Given the description of an element on the screen output the (x, y) to click on. 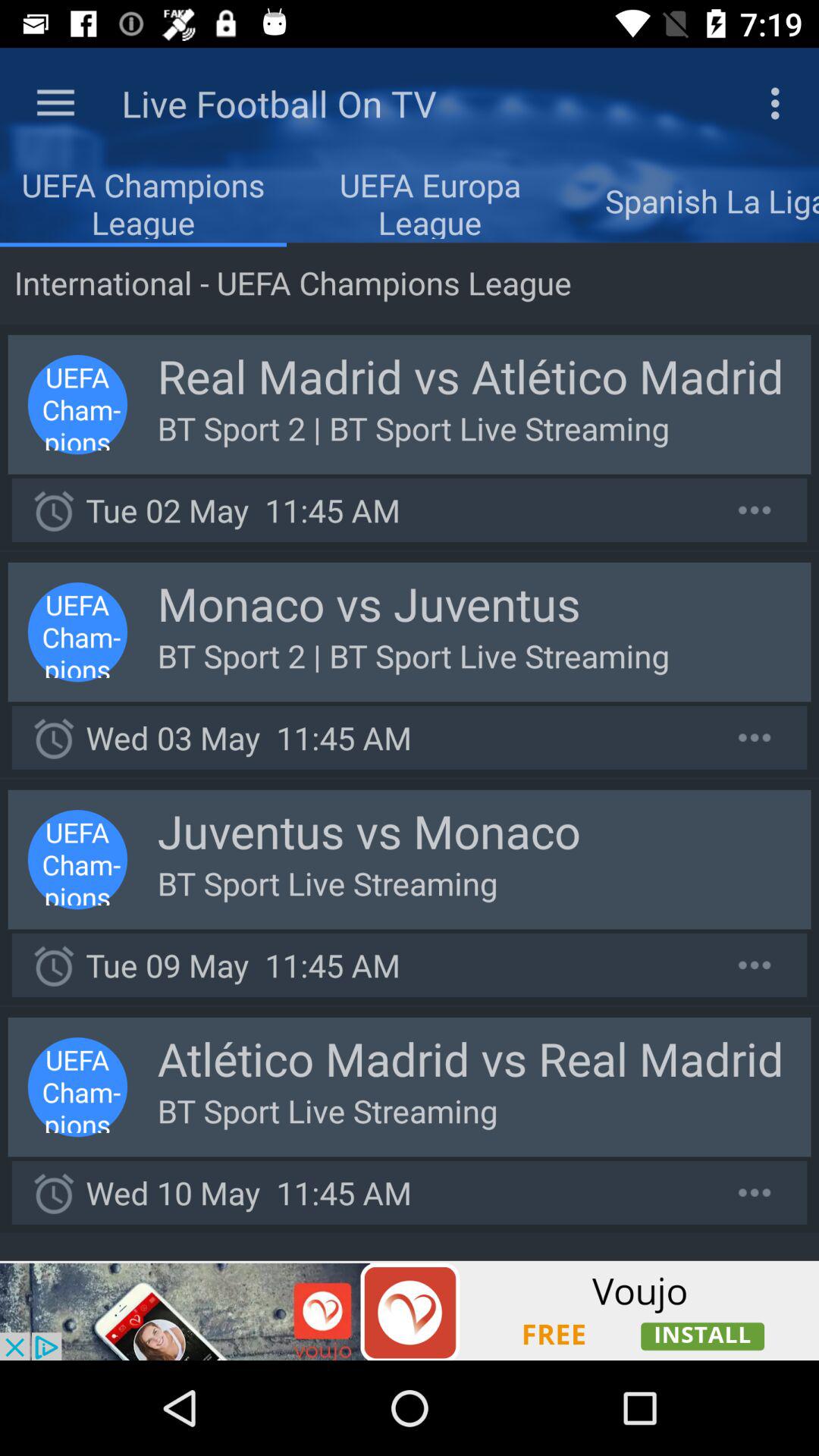
see advertisement (409, 1310)
